Given the description of an element on the screen output the (x, y) to click on. 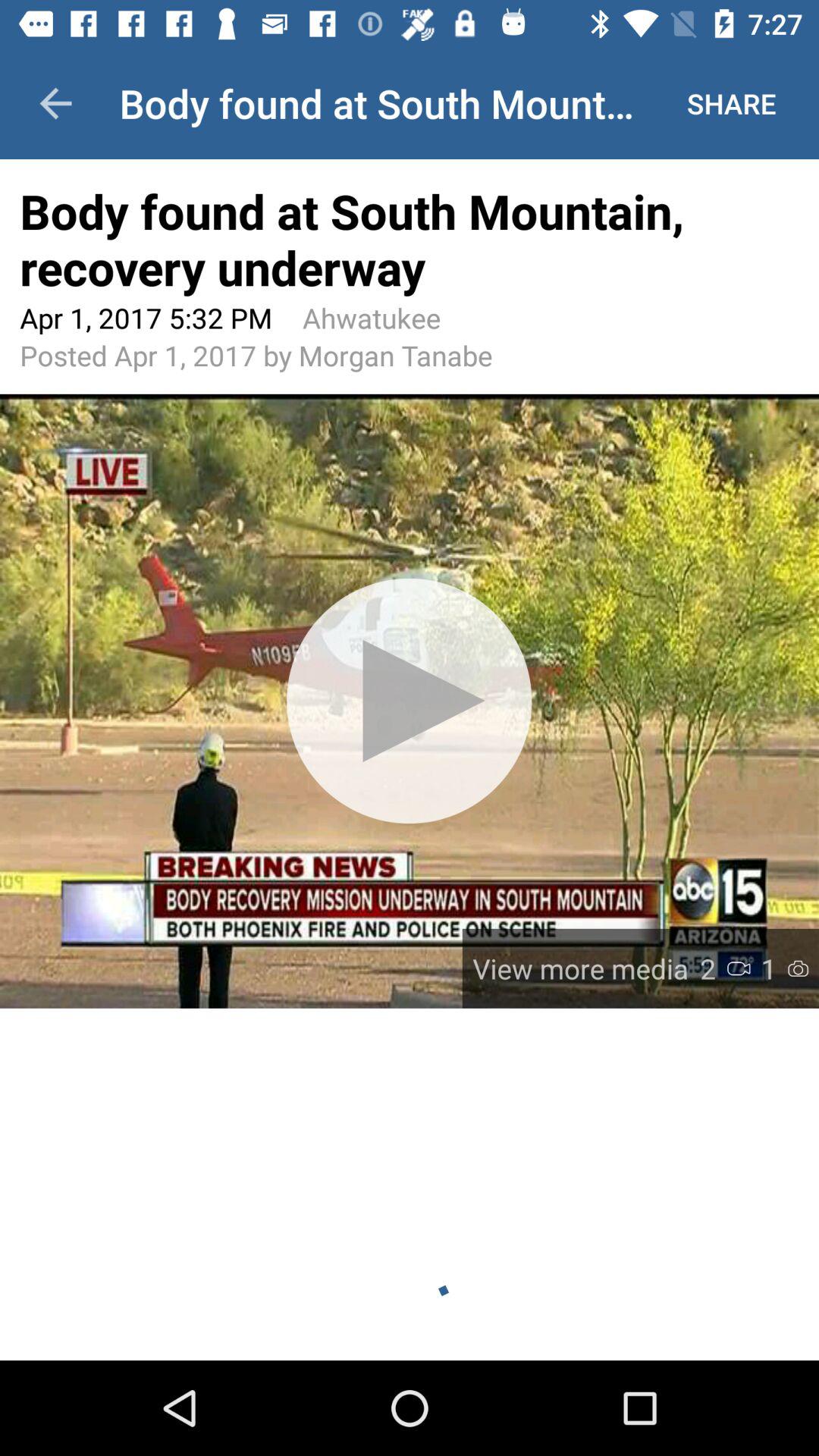
scroll to share icon (731, 103)
